Given the description of an element on the screen output the (x, y) to click on. 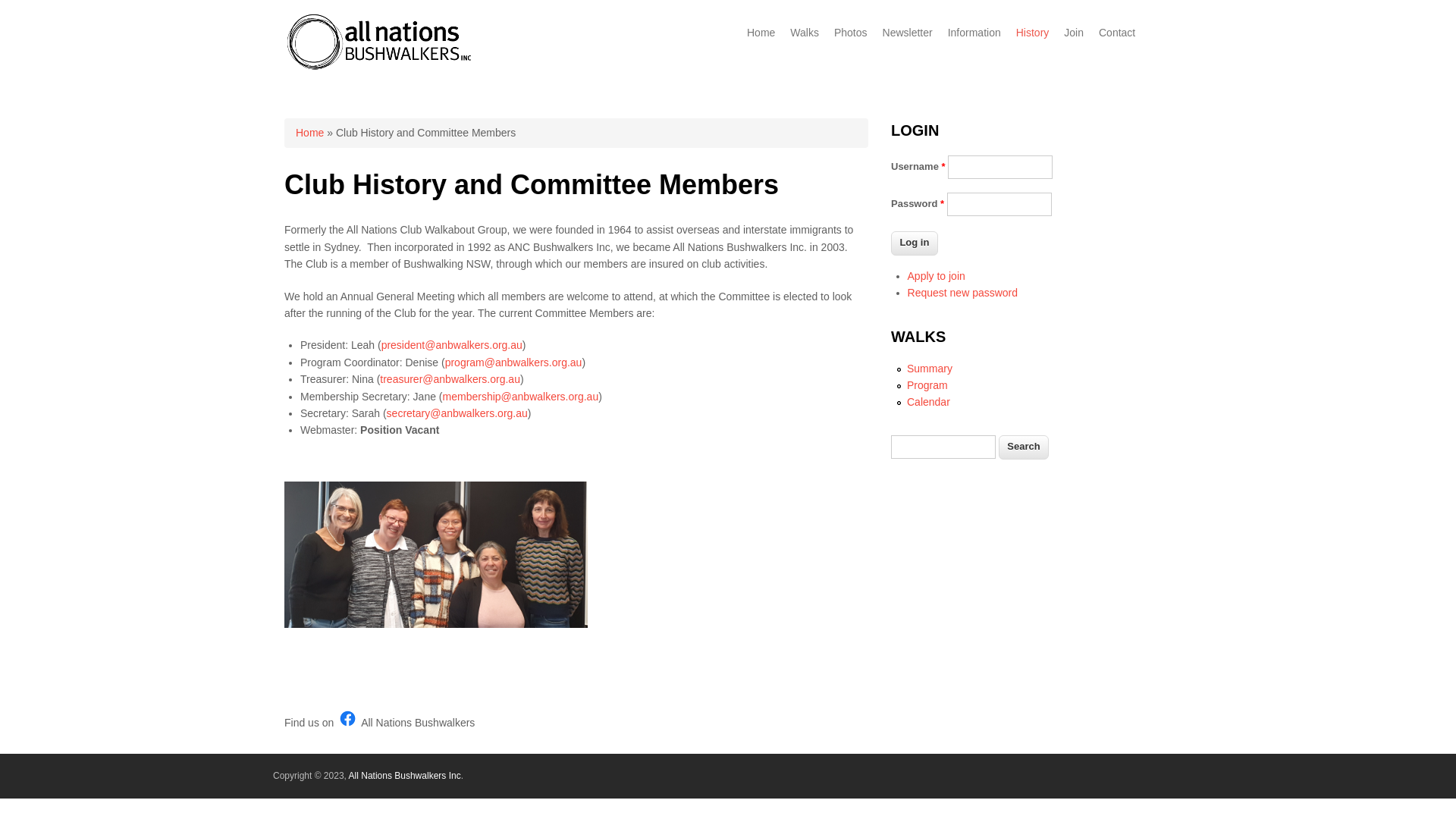
Calendar Element type: text (928, 401)
Contact Element type: text (1116, 32)
Apply to join Element type: text (936, 275)
Search Element type: text (1023, 447)
Log in Element type: text (914, 243)
Home Element type: text (309, 132)
president@anbwalkers.org.au Element type: text (451, 344)
Photos Element type: text (850, 32)
program@anbwalkers.org.au Element type: text (513, 362)
treasurer@anbwalkers.org.au Element type: text (449, 379)
Request new password Element type: text (962, 292)
Information Element type: text (974, 32)
membership@anbwalkers.org.au Element type: text (520, 395)
Join Element type: text (1073, 32)
All Nations Bushwalkers Facebook Group Element type: hover (347, 718)
Newsletter Element type: text (907, 32)
secretary@anbwalkers.org.au Element type: text (456, 413)
All Nations Bushwalkers Inc Element type: text (404, 775)
Program Element type: text (926, 385)
Summary Element type: text (929, 368)
Walks Element type: text (804, 32)
Enter the terms you wish to search for. Element type: hover (943, 446)
Home Element type: hover (378, 68)
Home Element type: text (760, 32)
History Element type: text (1032, 32)
